Given the description of an element on the screen output the (x, y) to click on. 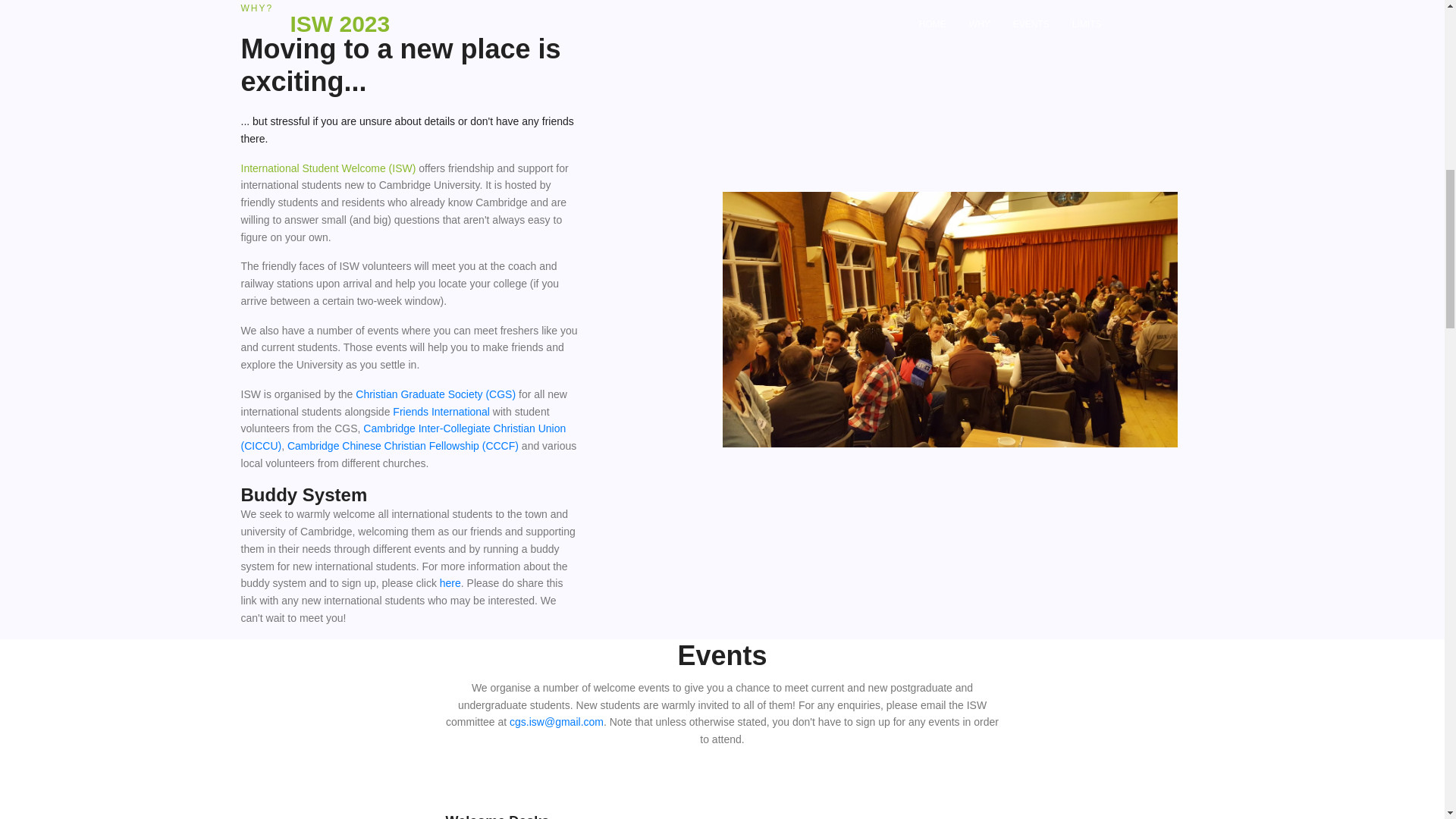
here (450, 582)
Friends International (441, 411)
